Given the description of an element on the screen output the (x, y) to click on. 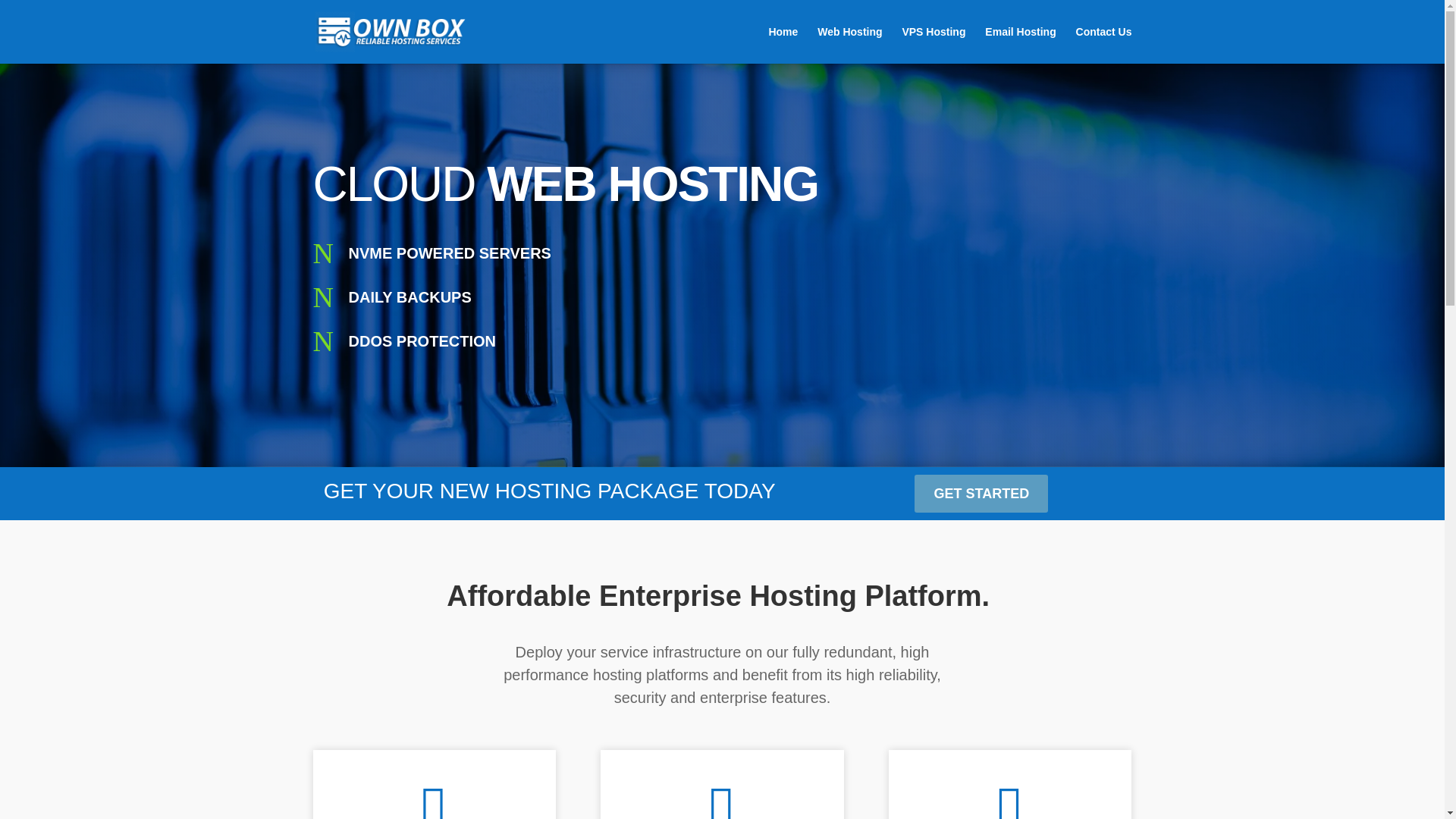
VPS Hosting (933, 44)
GET STARTED (981, 494)
Contact Us (1103, 44)
Email Hosting (1020, 44)
Web Hosting (849, 44)
